Given the description of an element on the screen output the (x, y) to click on. 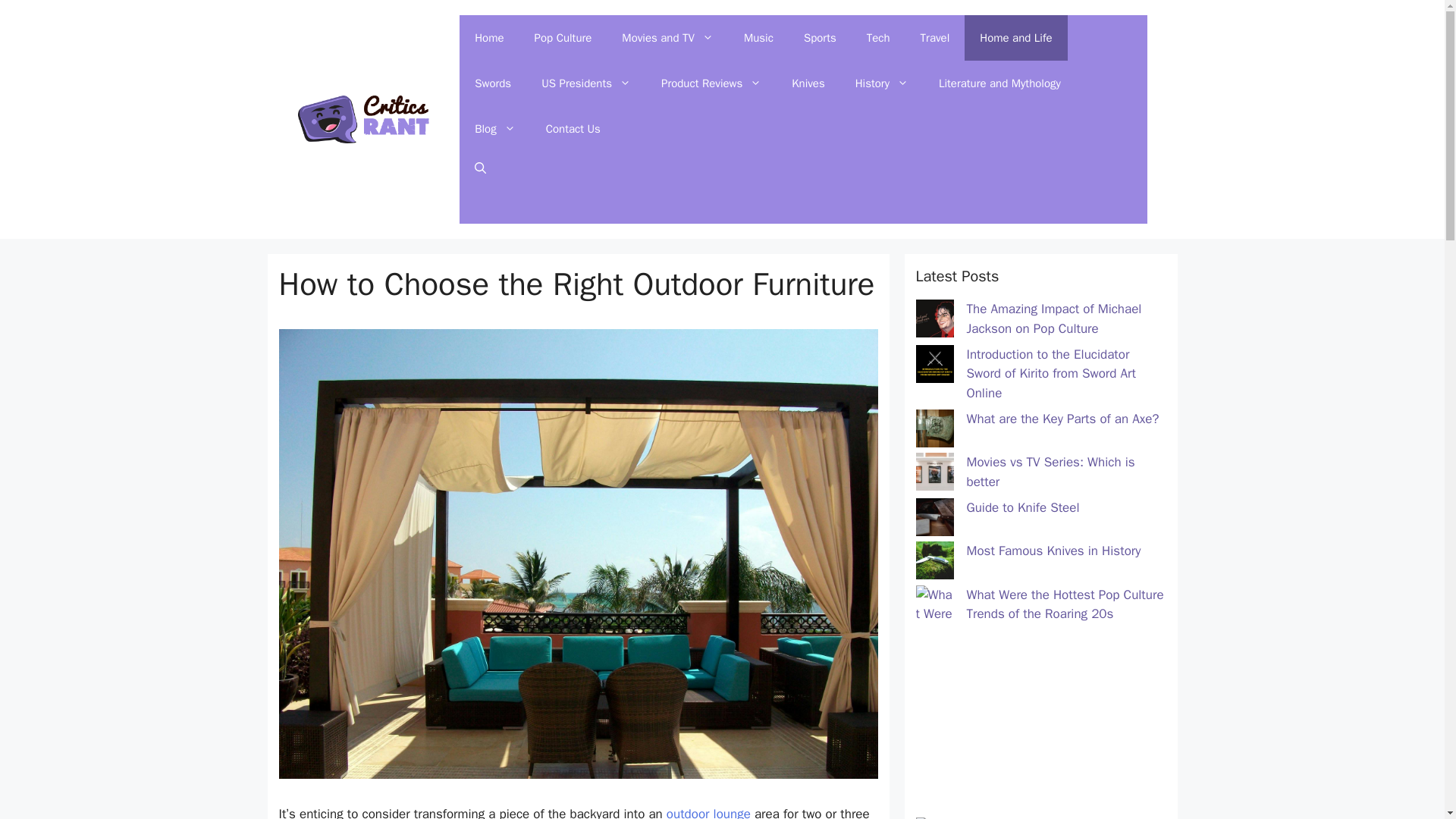
Pop Culture (563, 37)
Tech (878, 37)
Movies and TV (668, 37)
Home and Life (1015, 37)
Travel (935, 37)
Swords (492, 83)
Sports (820, 37)
Music (759, 37)
US Presidents (585, 83)
Home (489, 37)
